Given the description of an element on the screen output the (x, y) to click on. 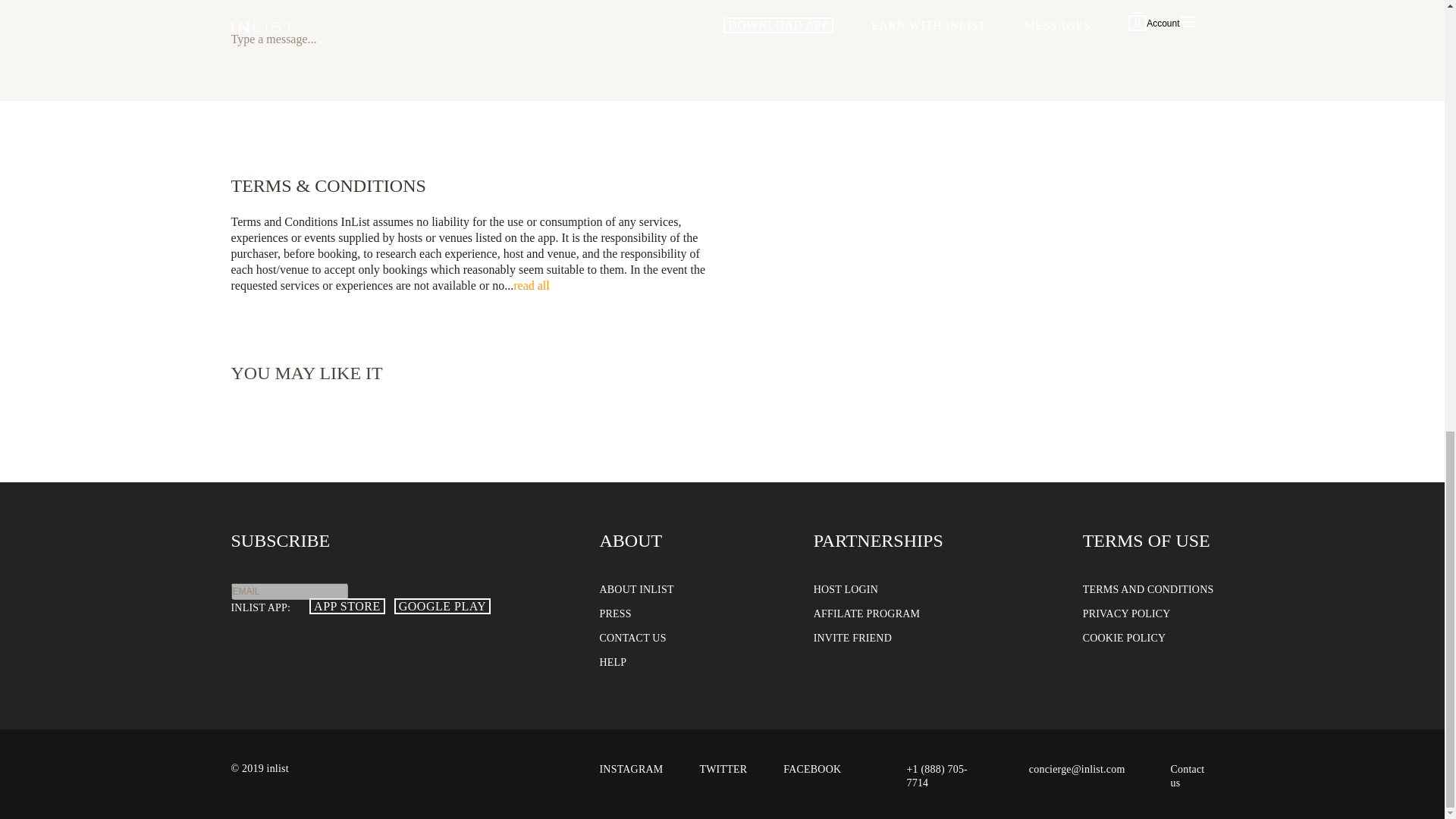
read all (531, 285)
